Given the description of an element on the screen output the (x, y) to click on. 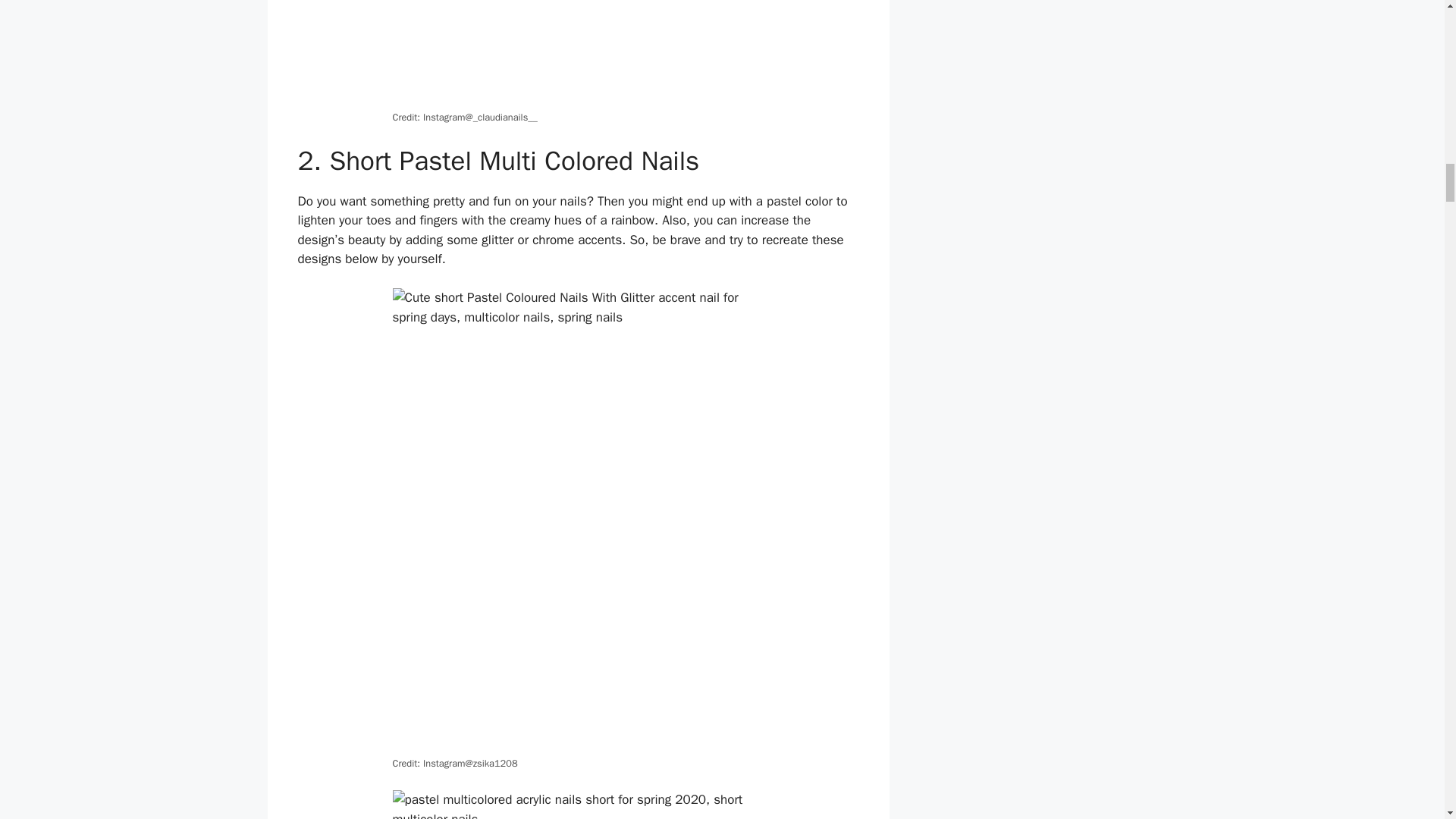
pastel multicolored acrylic nails short for spring 2020 (578, 804)
Cute pastel multi colored coffin nails 2020 (578, 53)
